Given the description of an element on the screen output the (x, y) to click on. 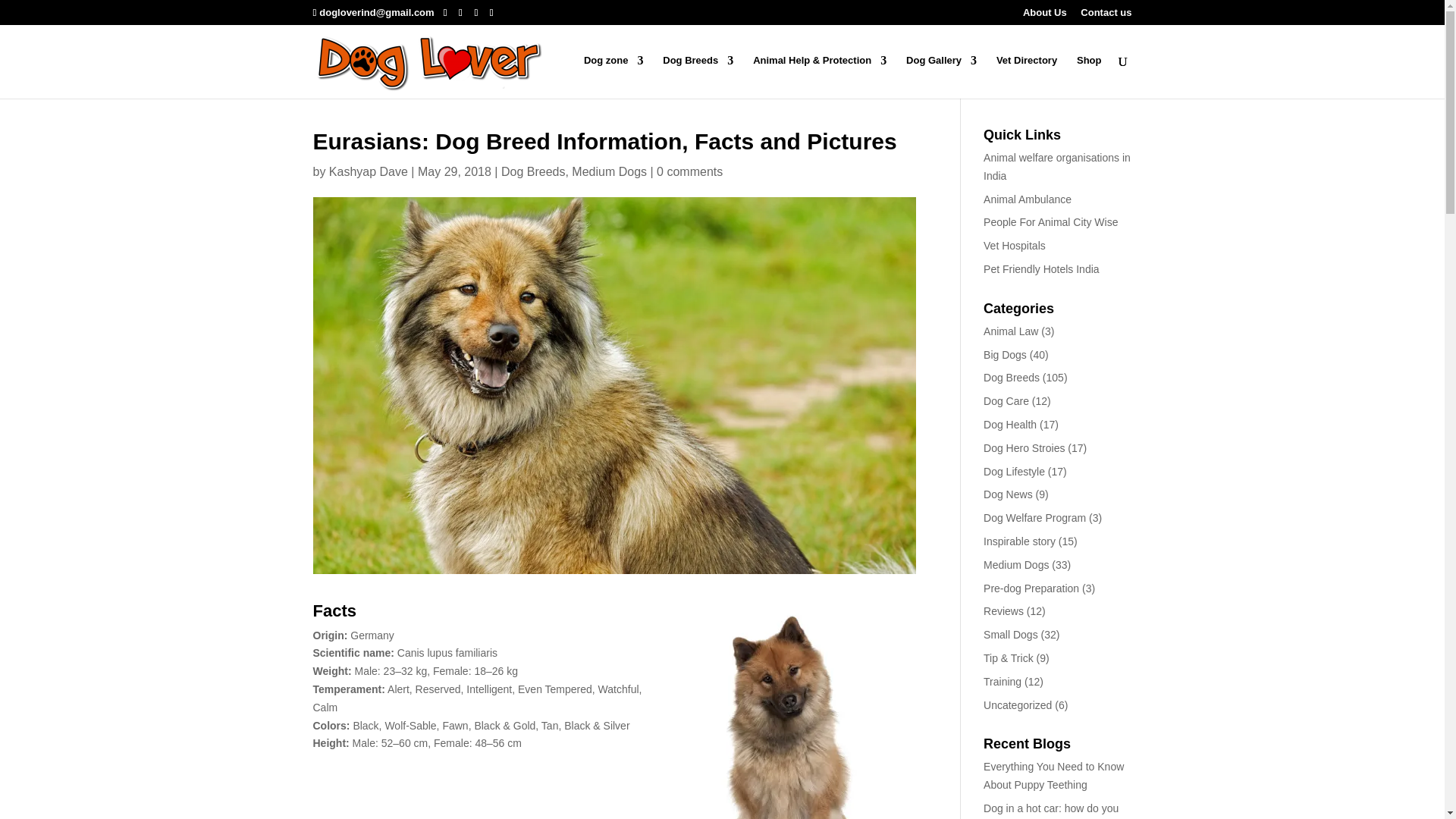
Vet Directory (1026, 76)
Posts by Kashyap Dave (368, 171)
Dog zone (613, 76)
About Us (1045, 16)
Dog Gallery (940, 76)
Dog Breeds (697, 76)
Contact us (1105, 16)
